Given the description of an element on the screen output the (x, y) to click on. 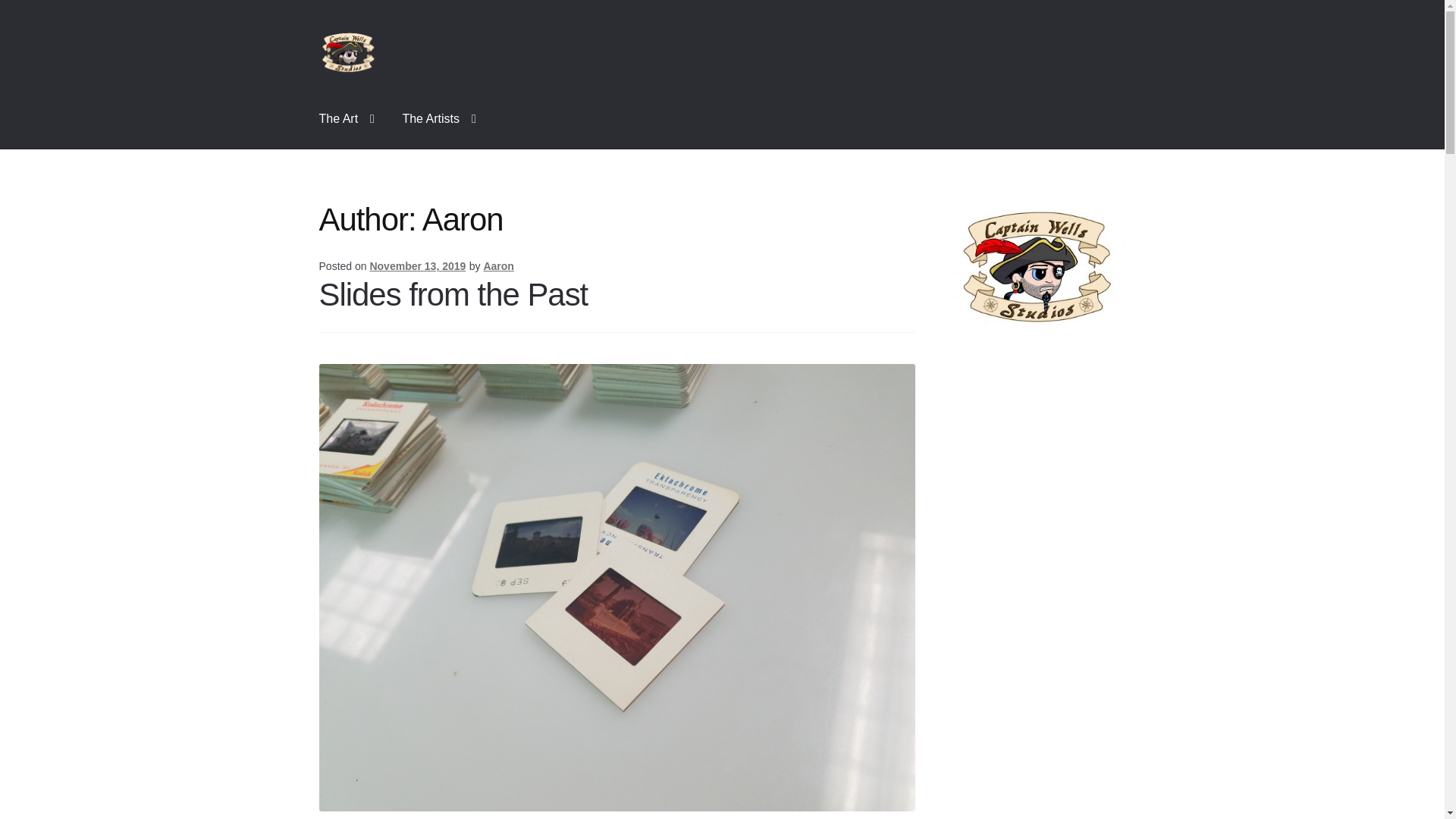
The Art (347, 118)
November 13, 2019 (417, 265)
The Artists (438, 118)
Slides from the Past (453, 294)
Aaron (498, 265)
